Given the description of an element on the screen output the (x, y) to click on. 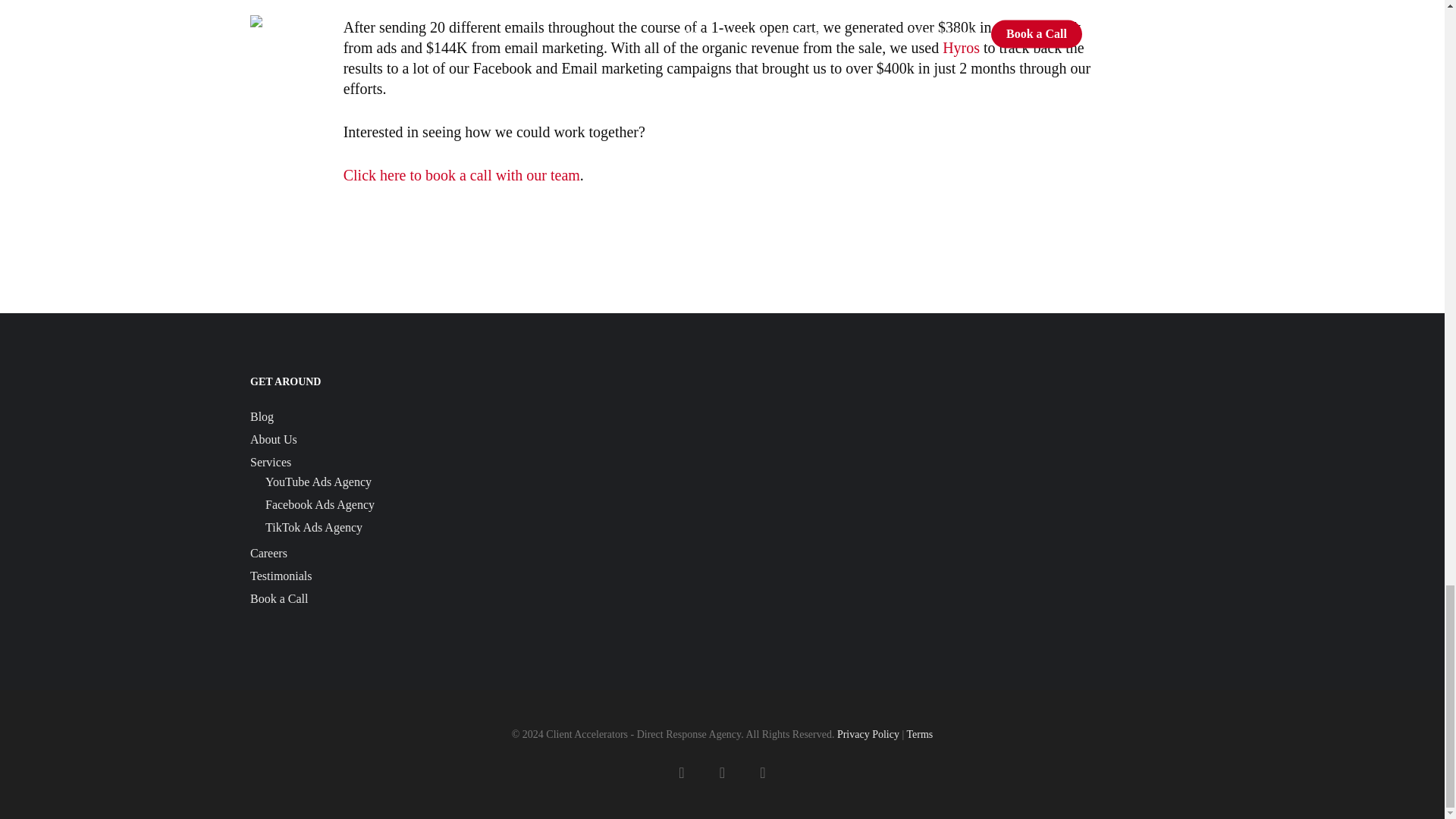
YouTube Ads Agency (488, 482)
Blog (481, 416)
Services (481, 462)
About Us (481, 439)
Careers (481, 553)
Facebook Ads Agency (488, 504)
TikTok Ads Agency (488, 527)
Testimonials (481, 576)
Book a Call (481, 598)
Hyros (960, 47)
